Given the description of an element on the screen output the (x, y) to click on. 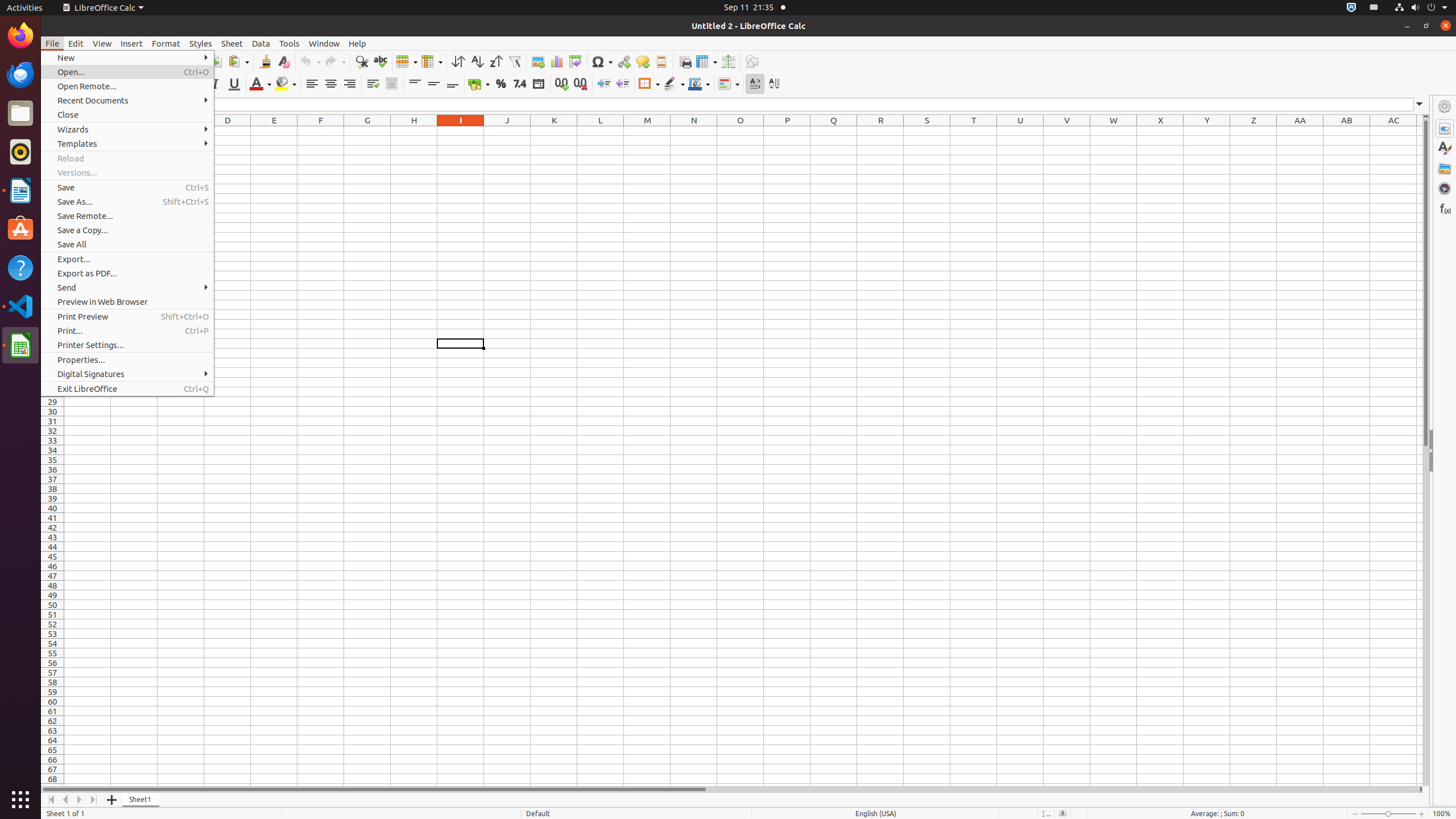
Sort Element type: push-button (457, 61)
Templates Element type: menu (126, 143)
AD1 Element type: table-cell (1419, 130)
Date Element type: push-button (537, 83)
